Given the description of an element on the screen output the (x, y) to click on. 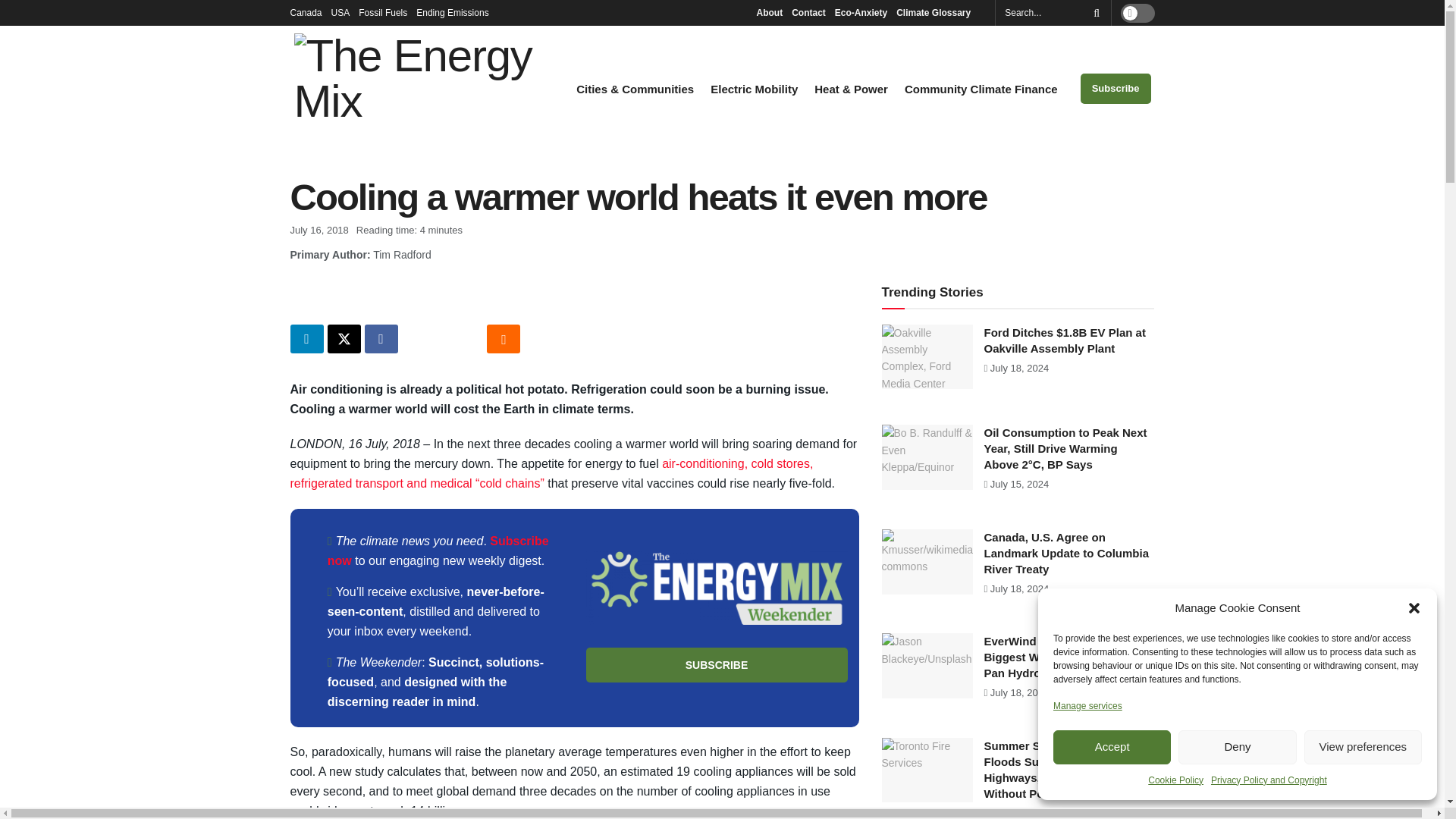
About (769, 12)
Electric Mobility (753, 89)
Eco-Anxiety (860, 12)
TEM-WeekenderLight (716, 587)
Community Climate Finance (981, 89)
Climate Glossary (937, 12)
Ending Emissions (456, 12)
Cookie Policy (1176, 780)
Fossil Fuels (382, 12)
Contact (808, 12)
Canada (305, 12)
Privacy Policy and Copyright (1268, 780)
Subscribe (716, 664)
Subscribe (1115, 88)
Deny (1236, 747)
